Given the description of an element on the screen output the (x, y) to click on. 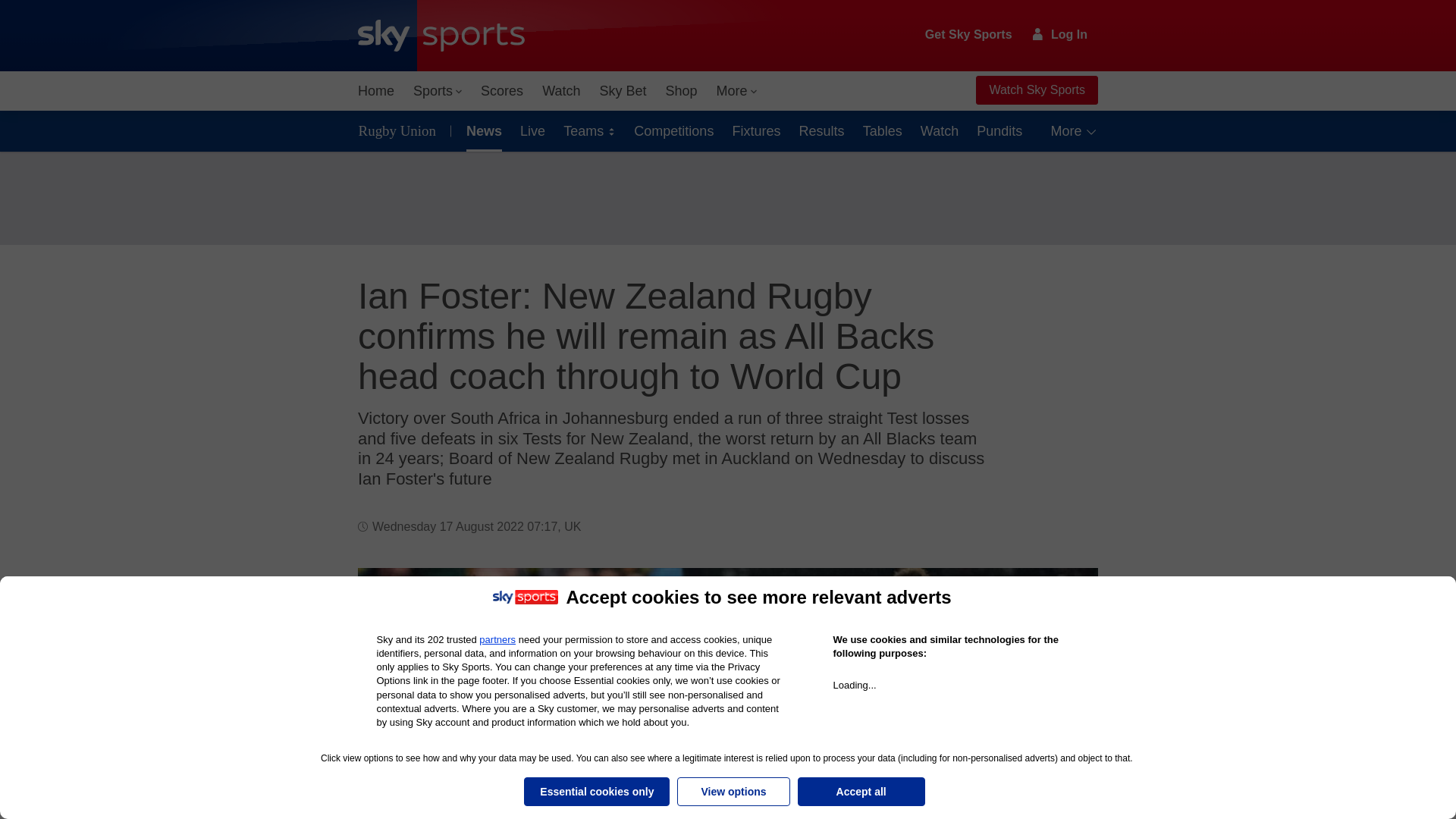
Watch Sky Sports (1036, 90)
More (736, 91)
Watch (561, 91)
Home (375, 91)
Shop (681, 91)
Rugby Union (400, 130)
News (481, 130)
Log In (1060, 33)
Scores (502, 91)
Sports (437, 91)
Sky Bet (622, 91)
Get Sky Sports (968, 34)
